Given the description of an element on the screen output the (x, y) to click on. 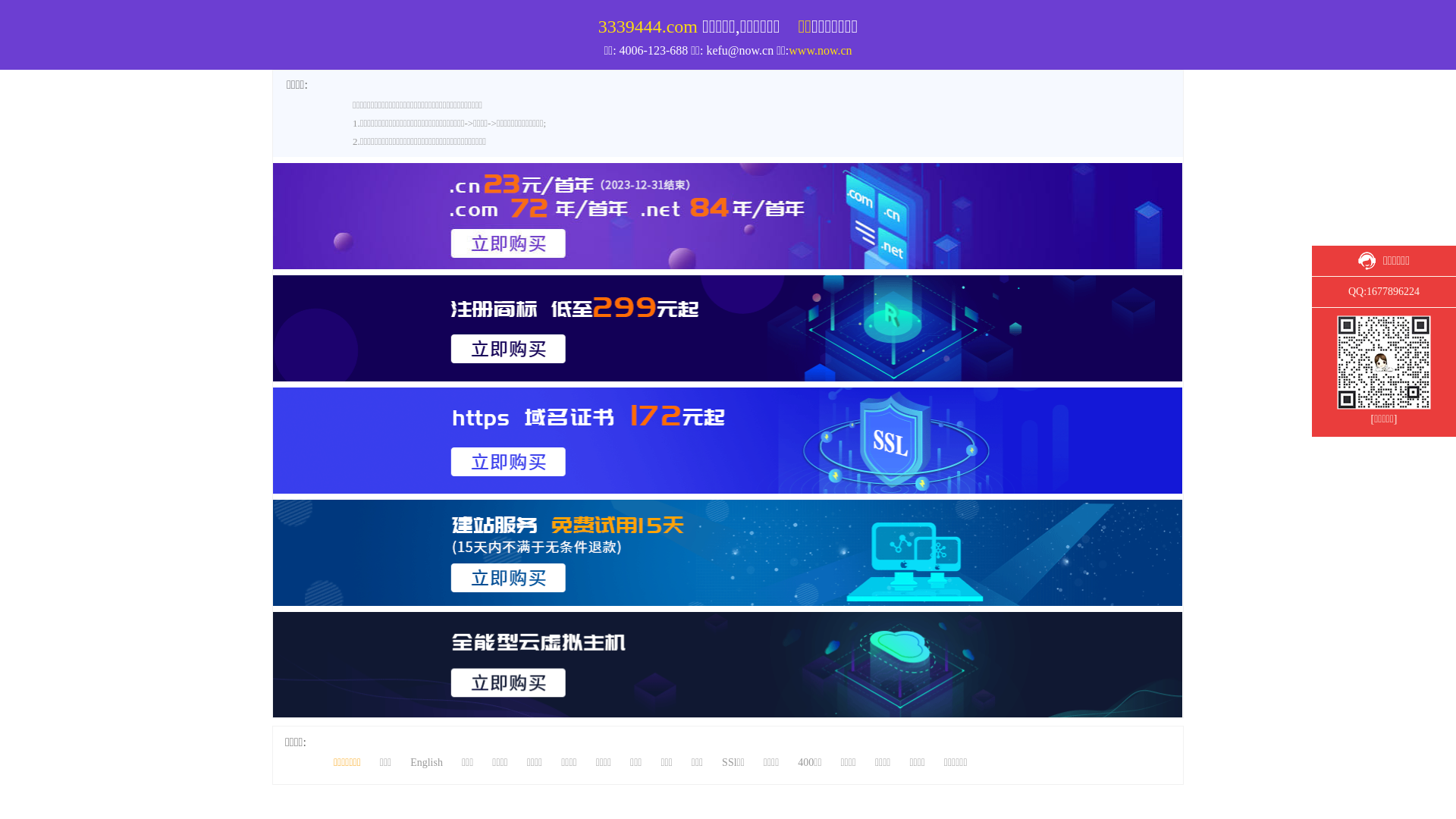
www.now.cn Element type: text (819, 49)
English Element type: text (1323, 6)
English Element type: text (426, 762)
